Given the description of an element on the screen output the (x, y) to click on. 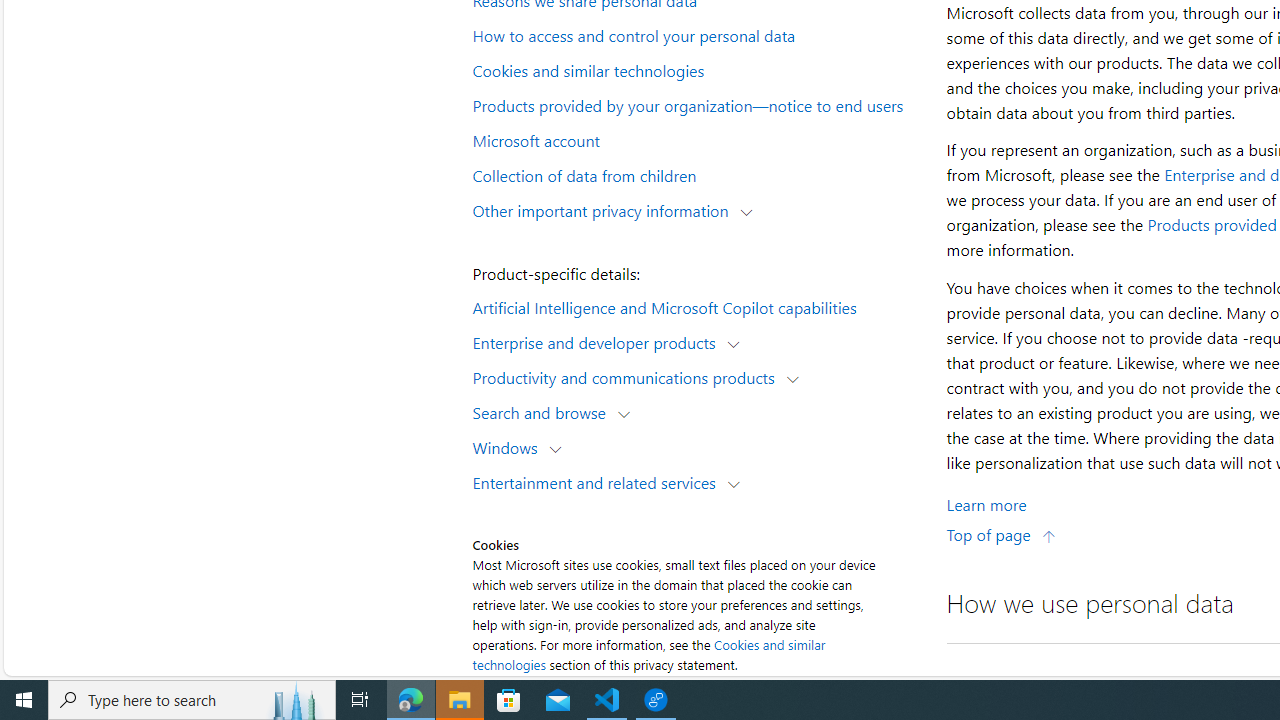
Productivity and communications products (628, 376)
Top of page (1001, 534)
Enterprise and developer products (598, 341)
Artificial Intelligence and Microsoft Copilot capabilities (696, 306)
Windows (509, 446)
Learn More about Personal data we collect (985, 504)
Cookies and similar technologies (696, 69)
Collection of data from children (696, 174)
Entertainment and related services (598, 481)
How to access and control your personal data (696, 35)
Other important privacy information (605, 209)
Microsoft account (696, 139)
Cookies and similar technologies (648, 654)
